Given the description of an element on the screen output the (x, y) to click on. 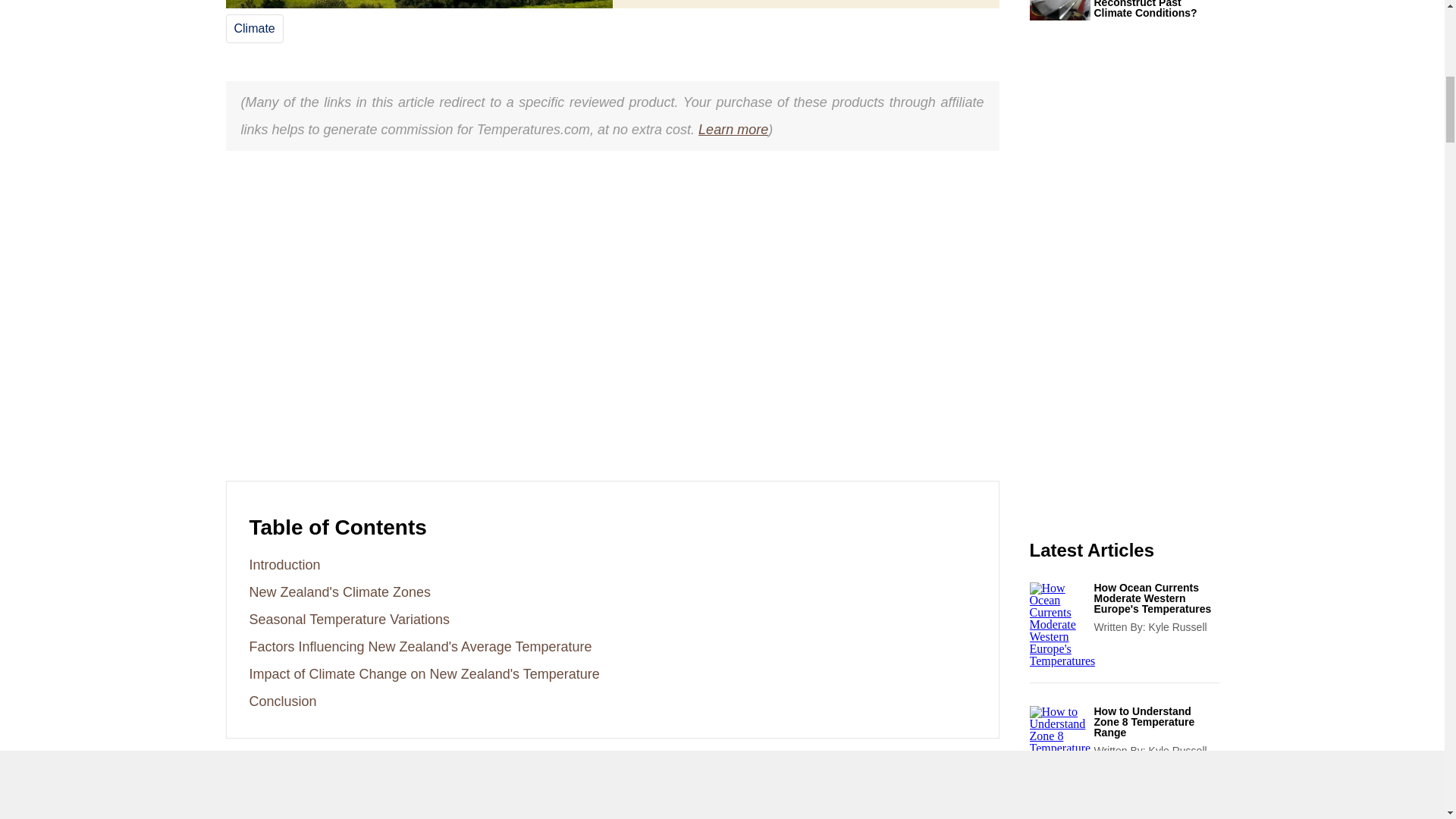
Seasonal Temperature Variations (348, 619)
New Zealand's Climate Zones (339, 591)
Climate (253, 28)
Learn more (733, 129)
Introduction (284, 564)
Factors Influencing New Zealand's Average Temperature (419, 646)
